Given the description of an element on the screen output the (x, y) to click on. 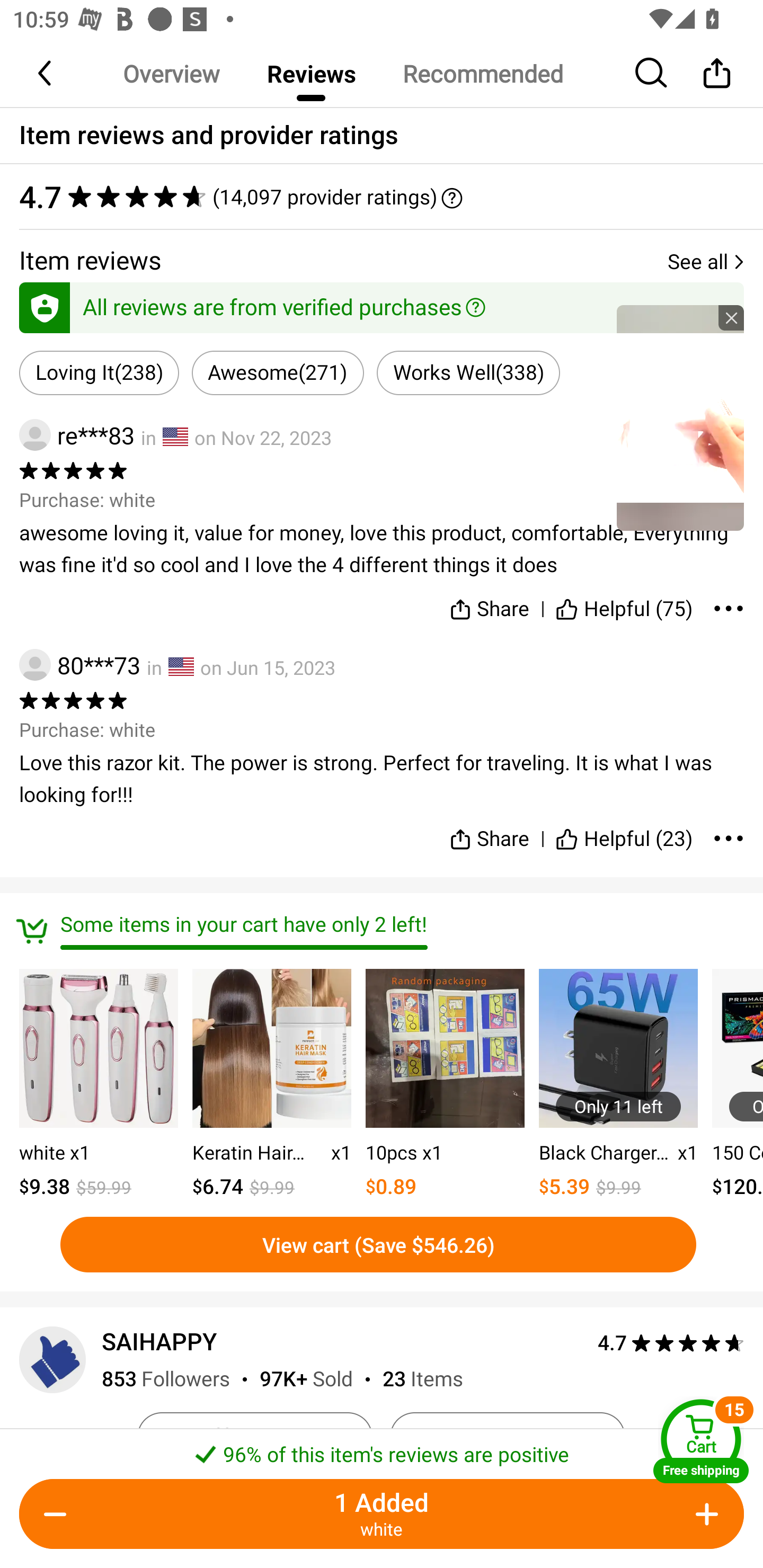
Overview (171, 72)
Reviews (311, 72)
Recommended (482, 72)
Back (46, 72)
Share (716, 72)
4.7 ‪(14,097 provider ratings) (381, 196)
All reviews are from verified purchases  (381, 303)
tronplayer_view (680, 417)
Loving It(238) (99, 373)
Awesome(271) (277, 373)
Works Well(338) (468, 373)
re***83 (76, 434)
  Share (489, 605)
  Helpful (75) (624, 605)
80***73 (79, 664)
  Share (489, 830)
  Helpful (23) (624, 830)
white  x1 $9.38 $59.99 (98, 1085)
Keratin Hair Mask 8.45oz  x1 $6.74 $9.99 (271, 1085)
10pcs  x1 $0.89 (444, 1085)
View cart (Save $546.26) (377, 1243)
Cart Free shipping Cart (701, 1440)
Decrease Quantity Button (59, 1513)
Add Quantity button (703, 1513)
